Given the description of an element on the screen output the (x, y) to click on. 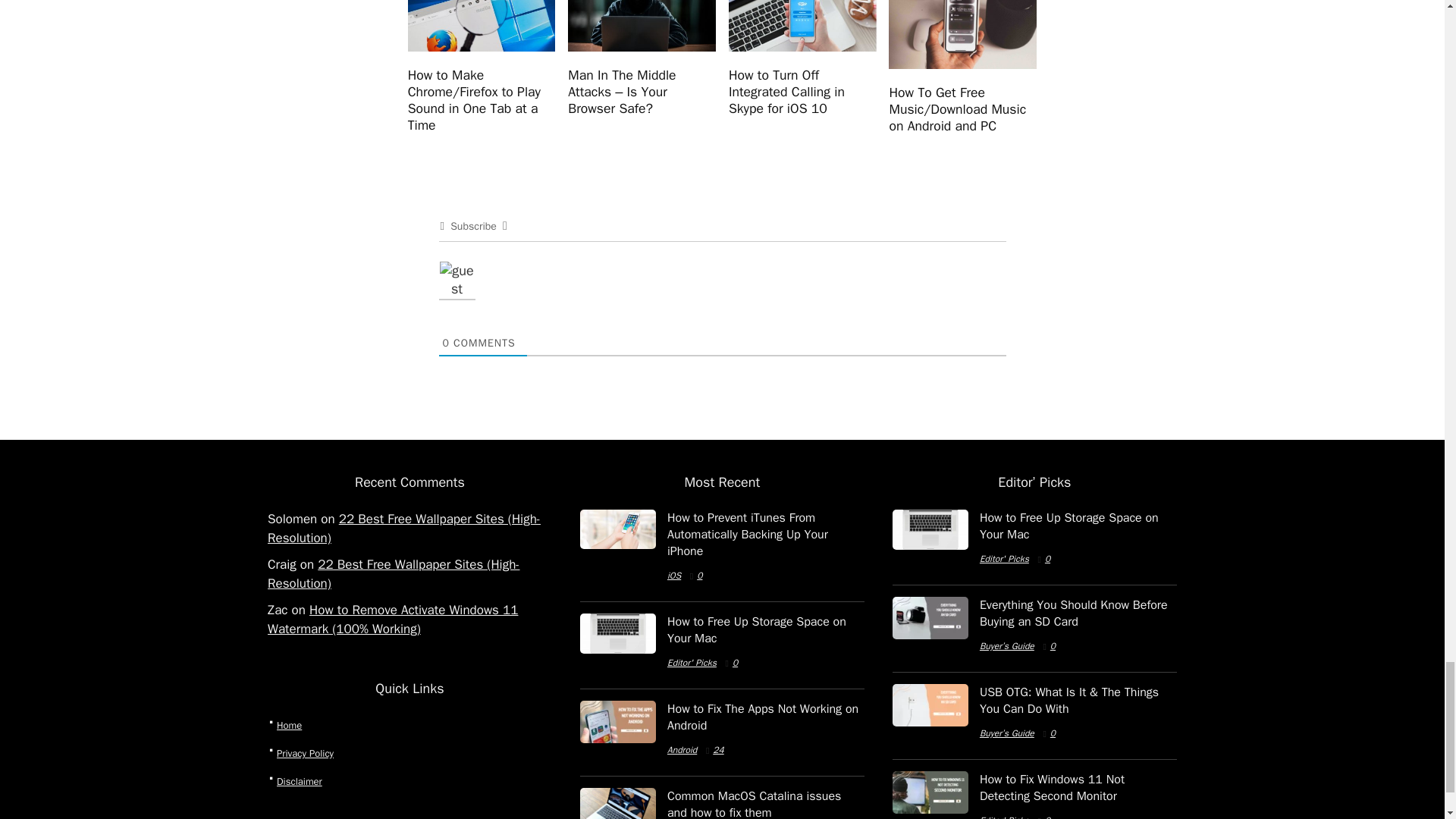
How to Turn Off Integrated Calling in Skype for iOS 10 (786, 91)
